Given the description of an element on the screen output the (x, y) to click on. 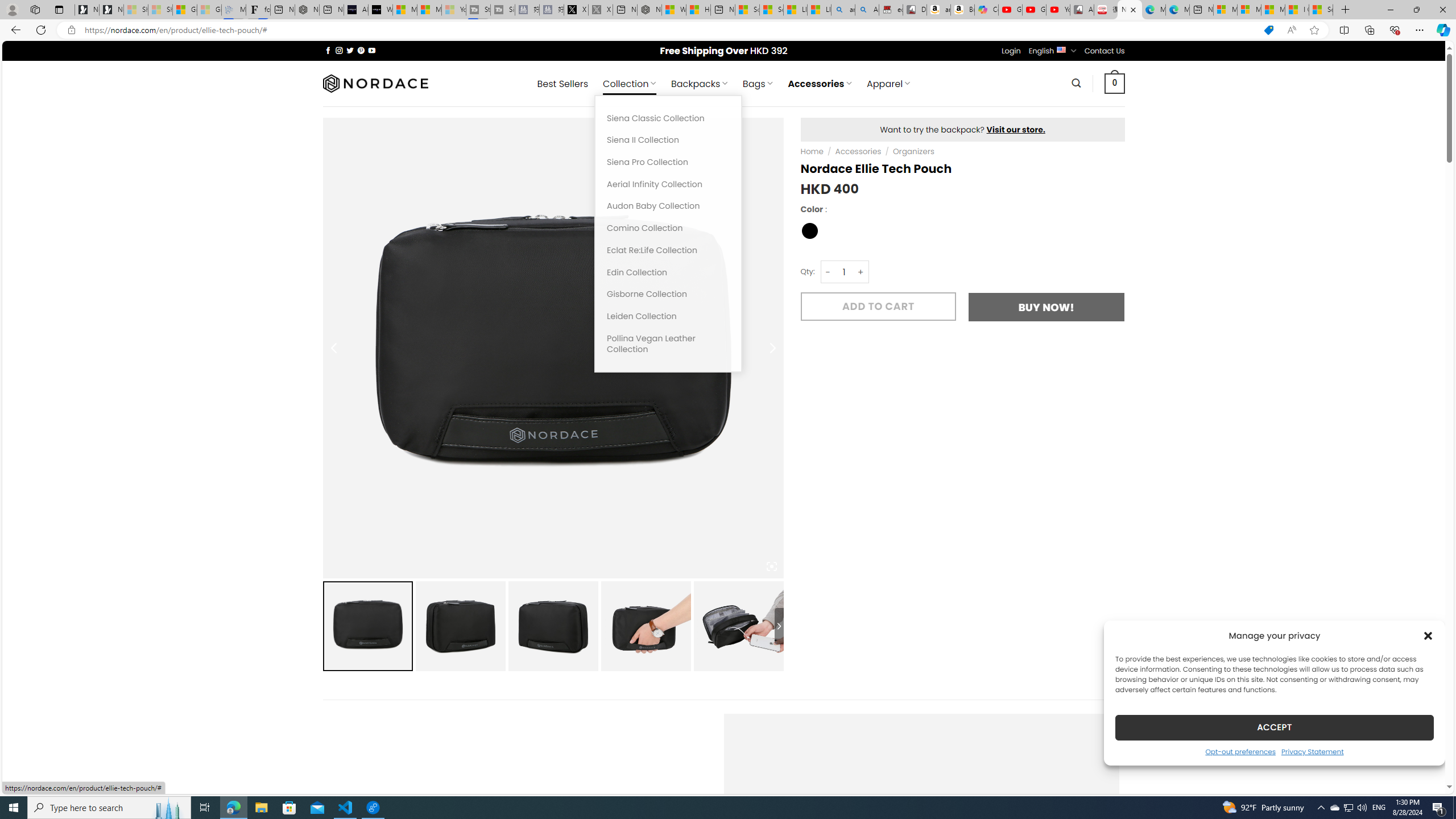
English (1061, 49)
Personal Profile (12, 9)
Follow on Facebook (327, 49)
Copilot (Ctrl+Shift+.) (1442, 29)
Microsoft account | Privacy (1248, 9)
 0  (1115, 83)
Audon Baby Collection (668, 205)
Settings and more (Alt+F) (1419, 29)
Leiden Collection (668, 316)
YouTube Kids - An App Created for Kids to Explore Content (1057, 9)
Follow on Instagram (338, 49)
Follow on Twitter (349, 49)
